Given the description of an element on the screen output the (x, y) to click on. 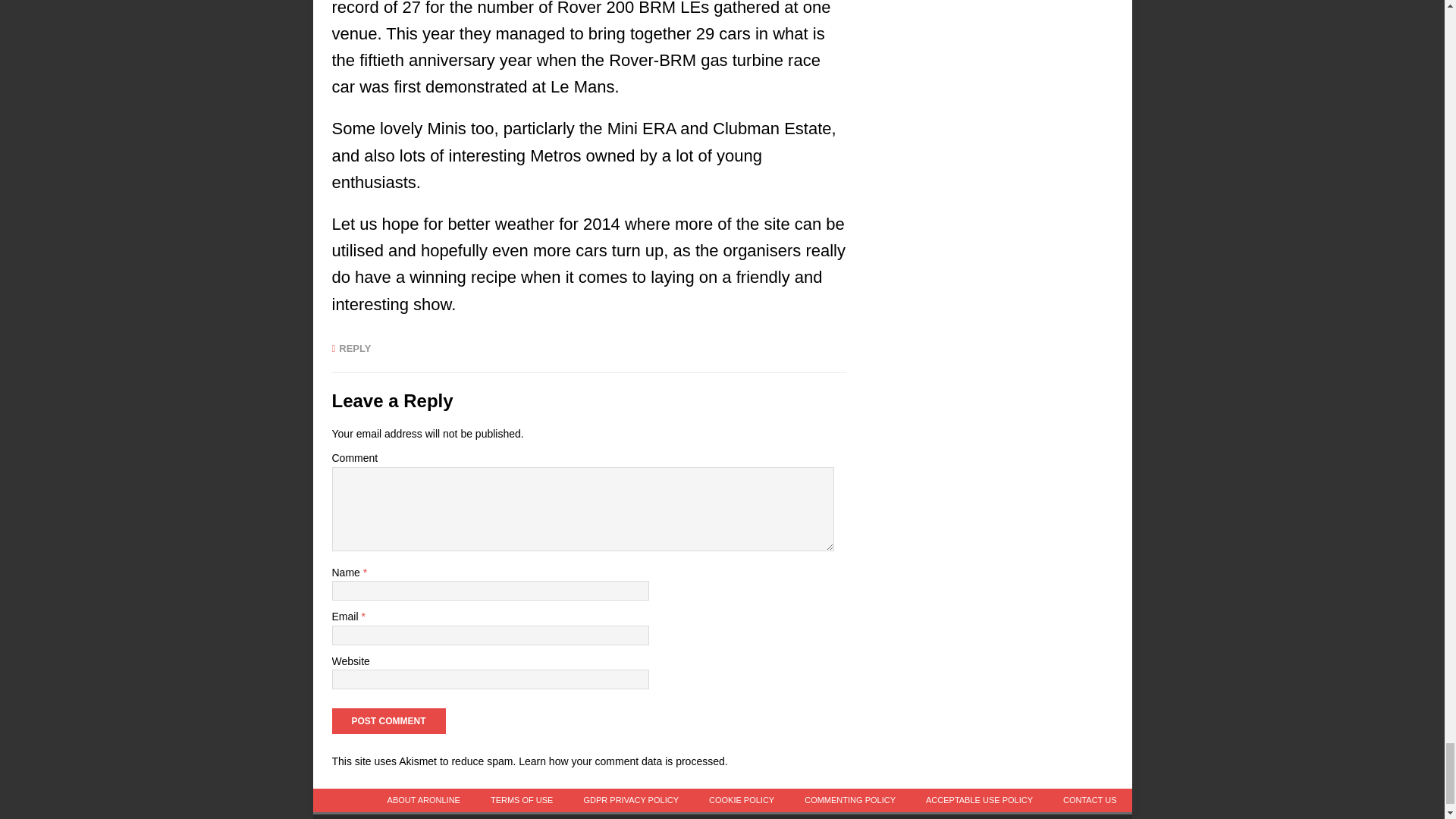
Post Comment (388, 720)
